Given the description of an element on the screen output the (x, y) to click on. 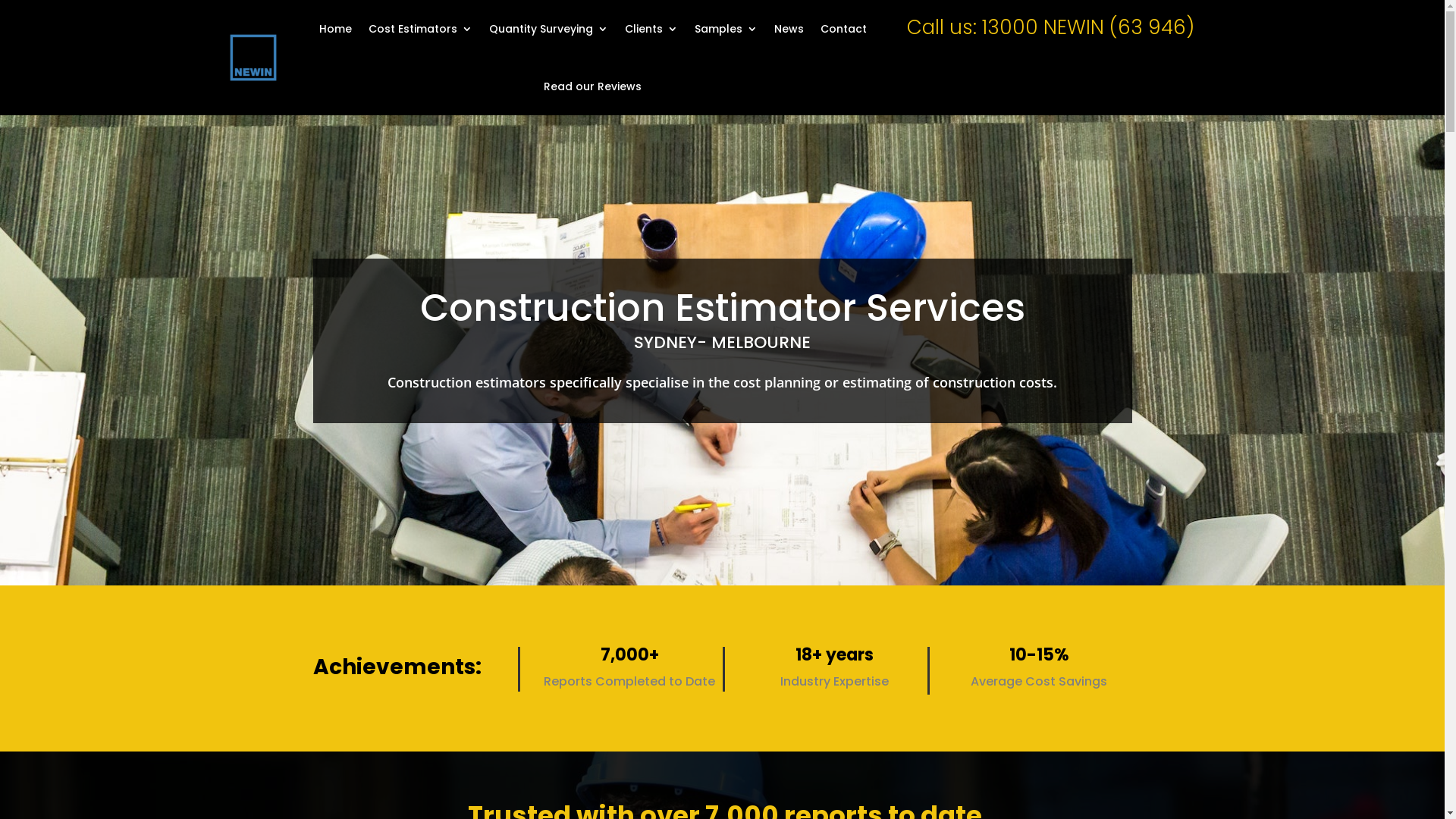
Contact Element type: text (843, 28)
Home Element type: text (335, 28)
Clients Element type: text (650, 28)
Read our Reviews Element type: text (592, 86)
Cost Estimators Element type: text (420, 28)
Quantity Surveying Element type: text (548, 28)
Call us: 13000 NEWIN (63 946) Element type: text (1050, 26)
Samples Element type: text (725, 28)
News Element type: text (788, 28)
